Given the description of an element on the screen output the (x, y) to click on. 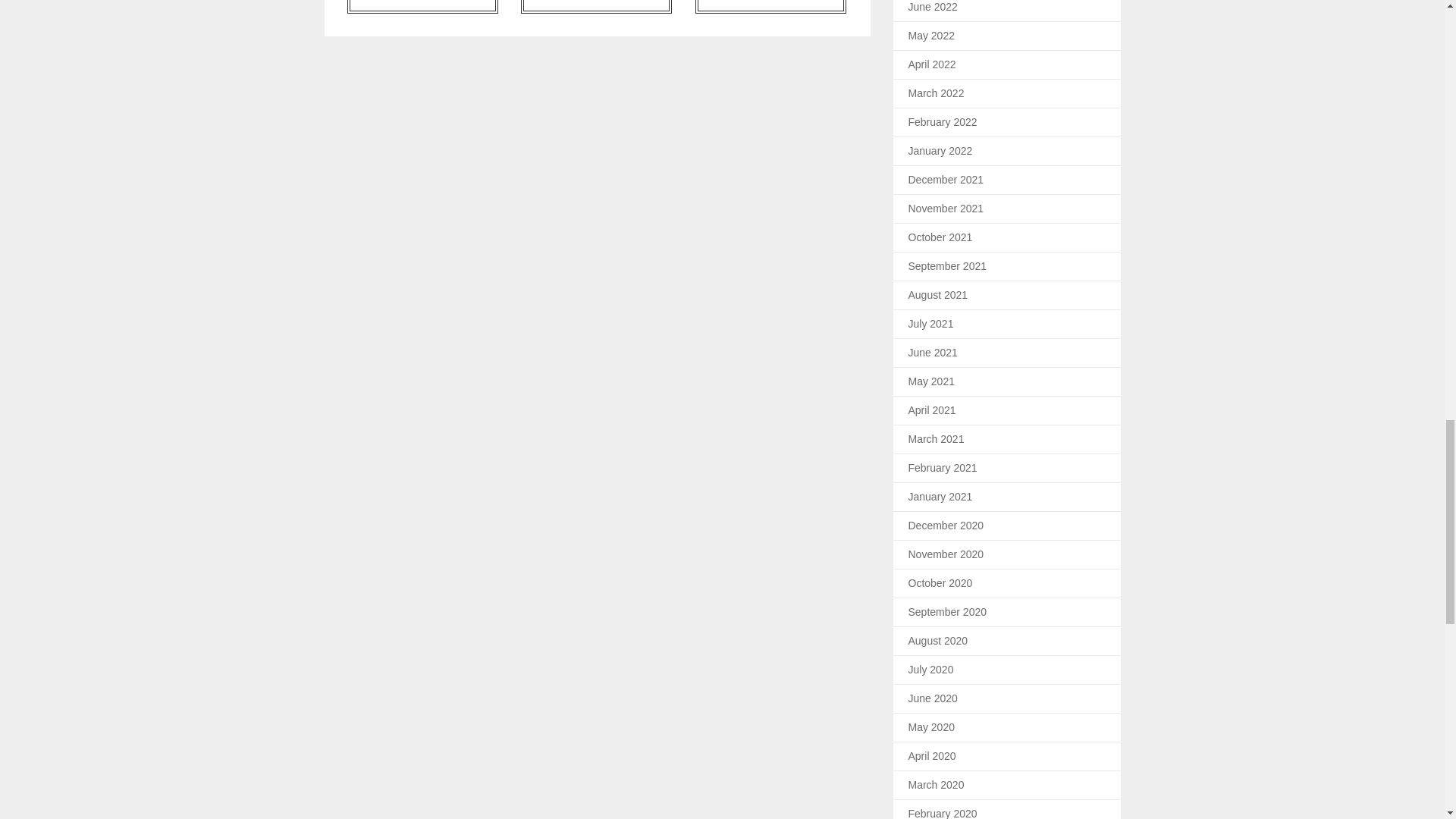
Sanction approach to playing the ole777 online gambling site (422, 6)
The best way to deal with transform into a specialist player (770, 6)
Sanction approach to playing the ole777 online gambling site (422, 6)
The best way to deal with transform into a specialist player (770, 6)
